Given the description of an element on the screen output the (x, y) to click on. 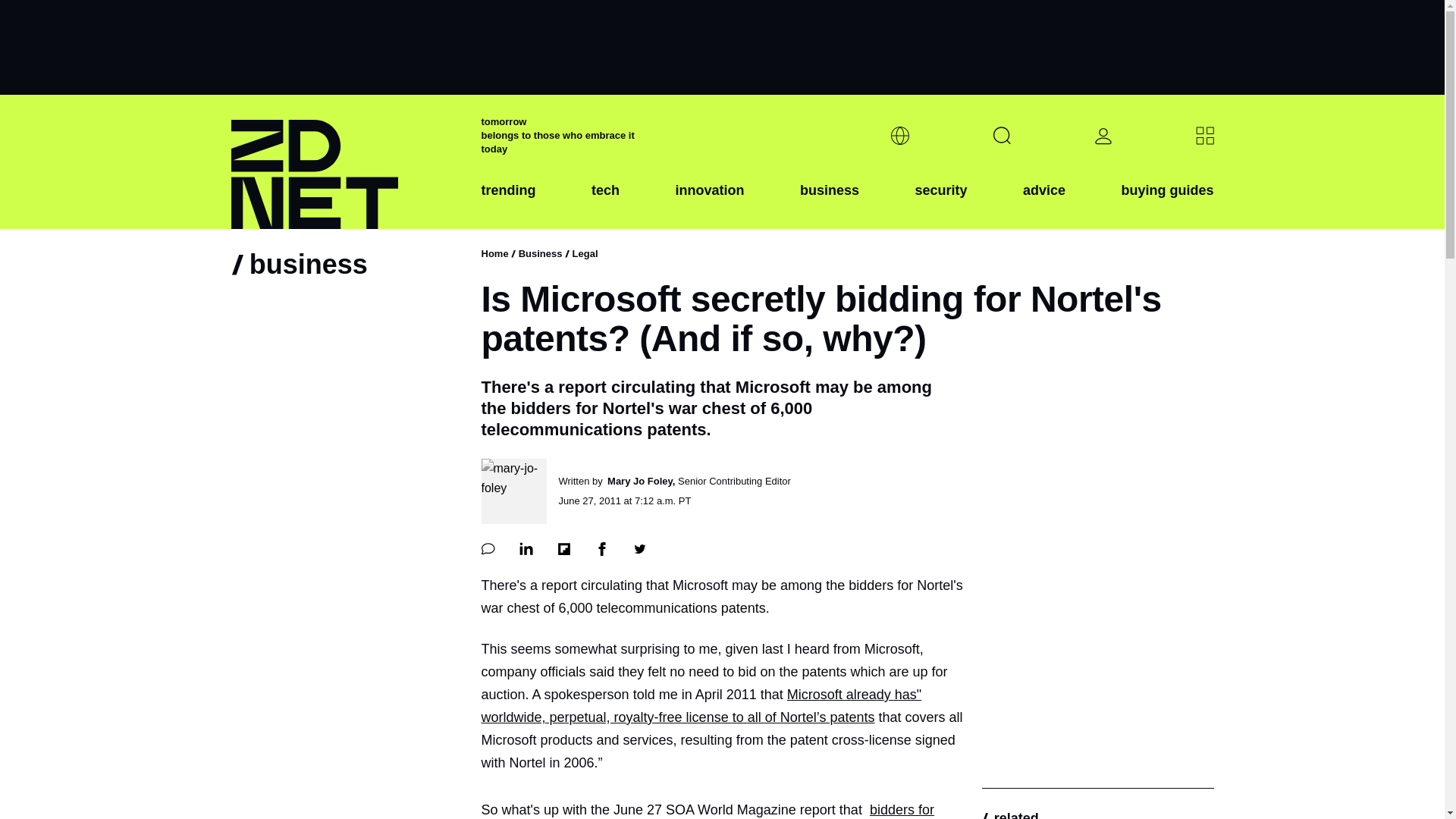
ZDNET (346, 162)
tech (605, 202)
trending (507, 202)
